Given the description of an element on the screen output the (x, y) to click on. 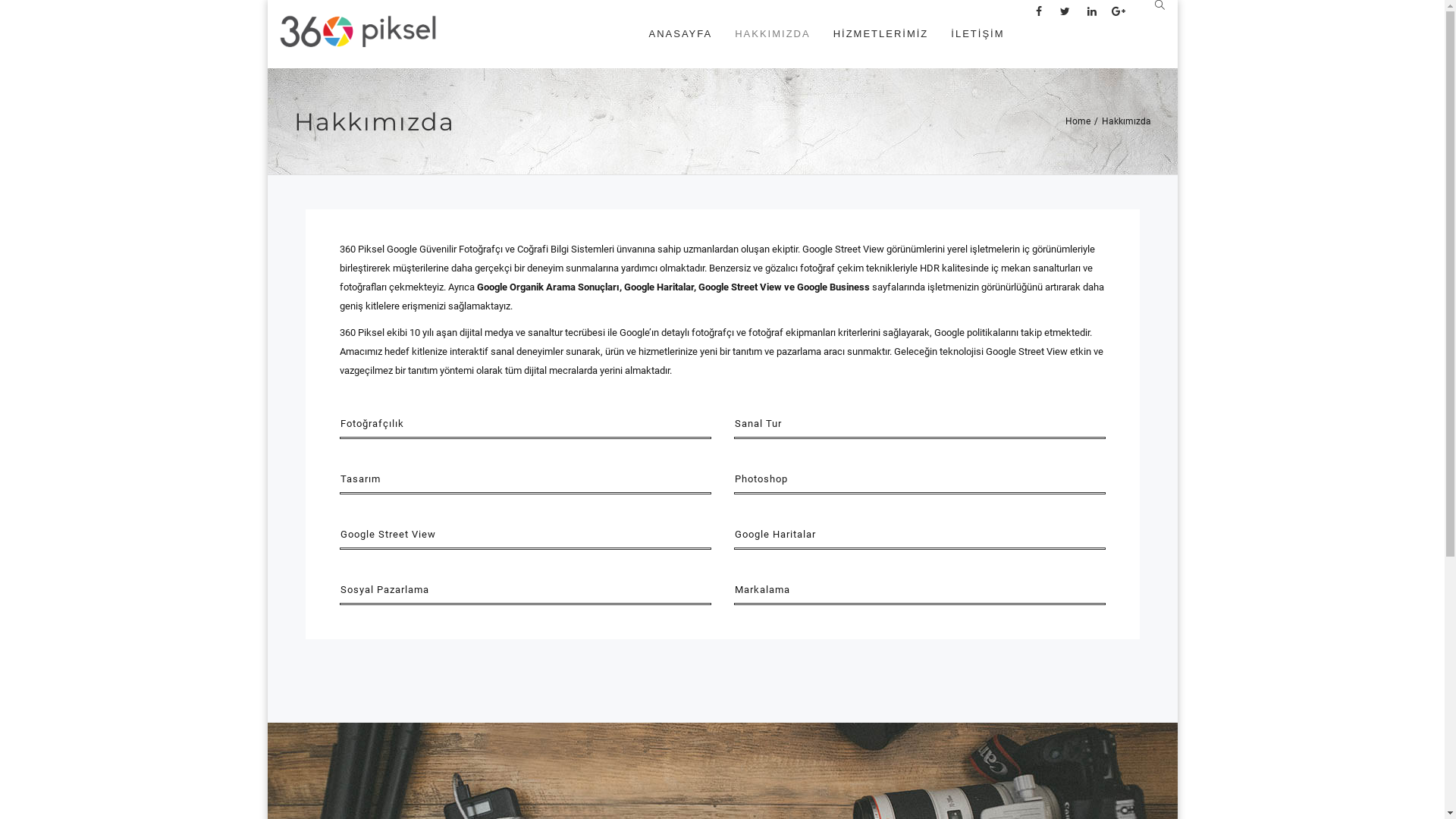
HAKKIMIZDA Element type: text (772, 34)
ANASAYFA Element type: text (680, 34)
360 Piksel | 360 Sanal Tur | Street View -  Element type: hover (357, 34)
Home Element type: text (1076, 120)
